Given the description of an element on the screen output the (x, y) to click on. 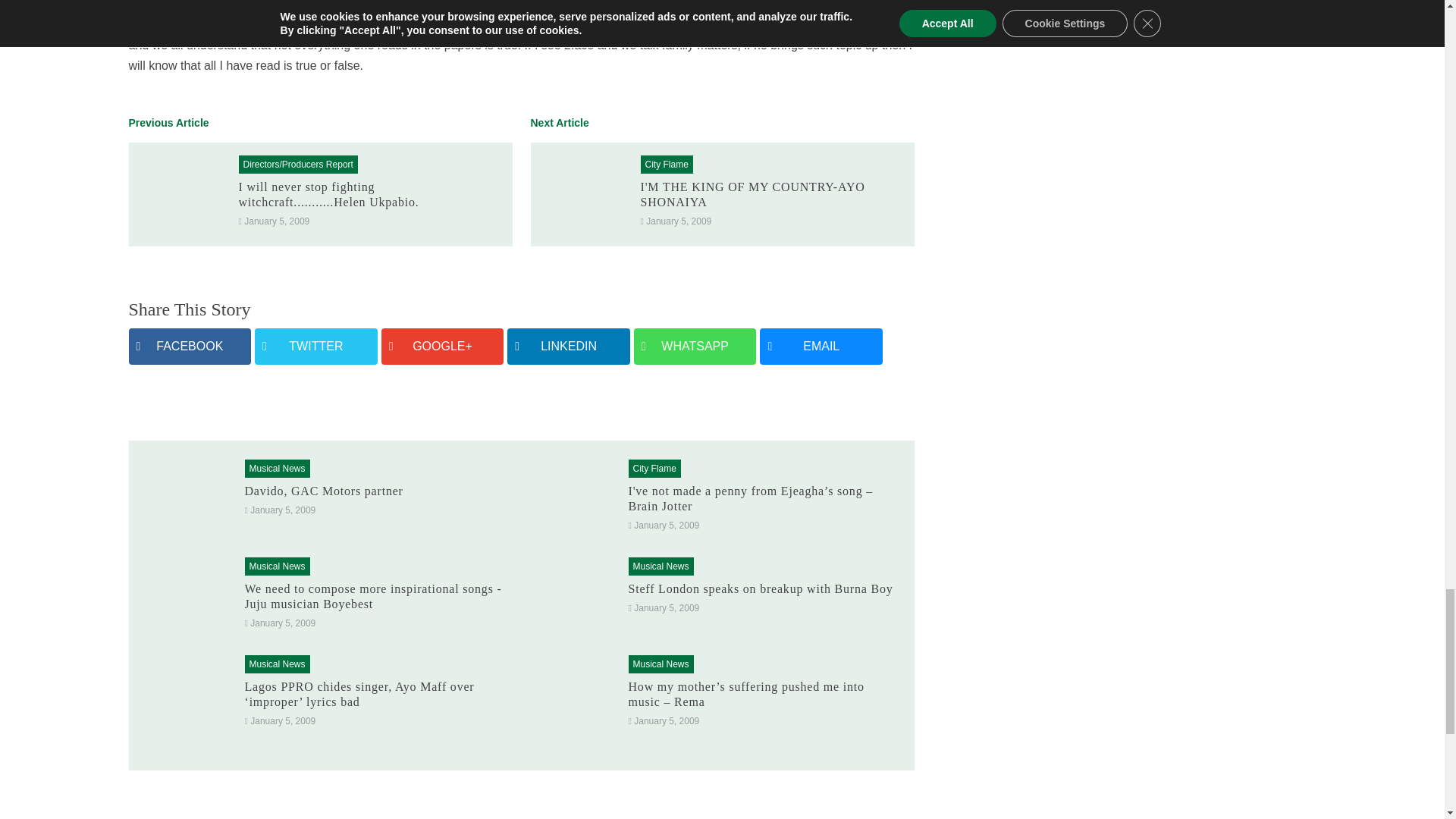
googleplus (442, 345)
whatsapp (695, 345)
facebook (190, 345)
City Flame (666, 163)
TWITTER (315, 345)
FACEBOOK (190, 345)
I'M THE KING OF MY COUNTRY-AYO SHONAIYA (583, 192)
City Flame (666, 163)
linkedin (568, 345)
I'M THE KING OF MY COUNTRY-AYO SHONAIYA (752, 194)
I'M THE KING OF MY COUNTRY-AYO SHONAIYA (752, 194)
twitter (315, 345)
